Given the description of an element on the screen output the (x, y) to click on. 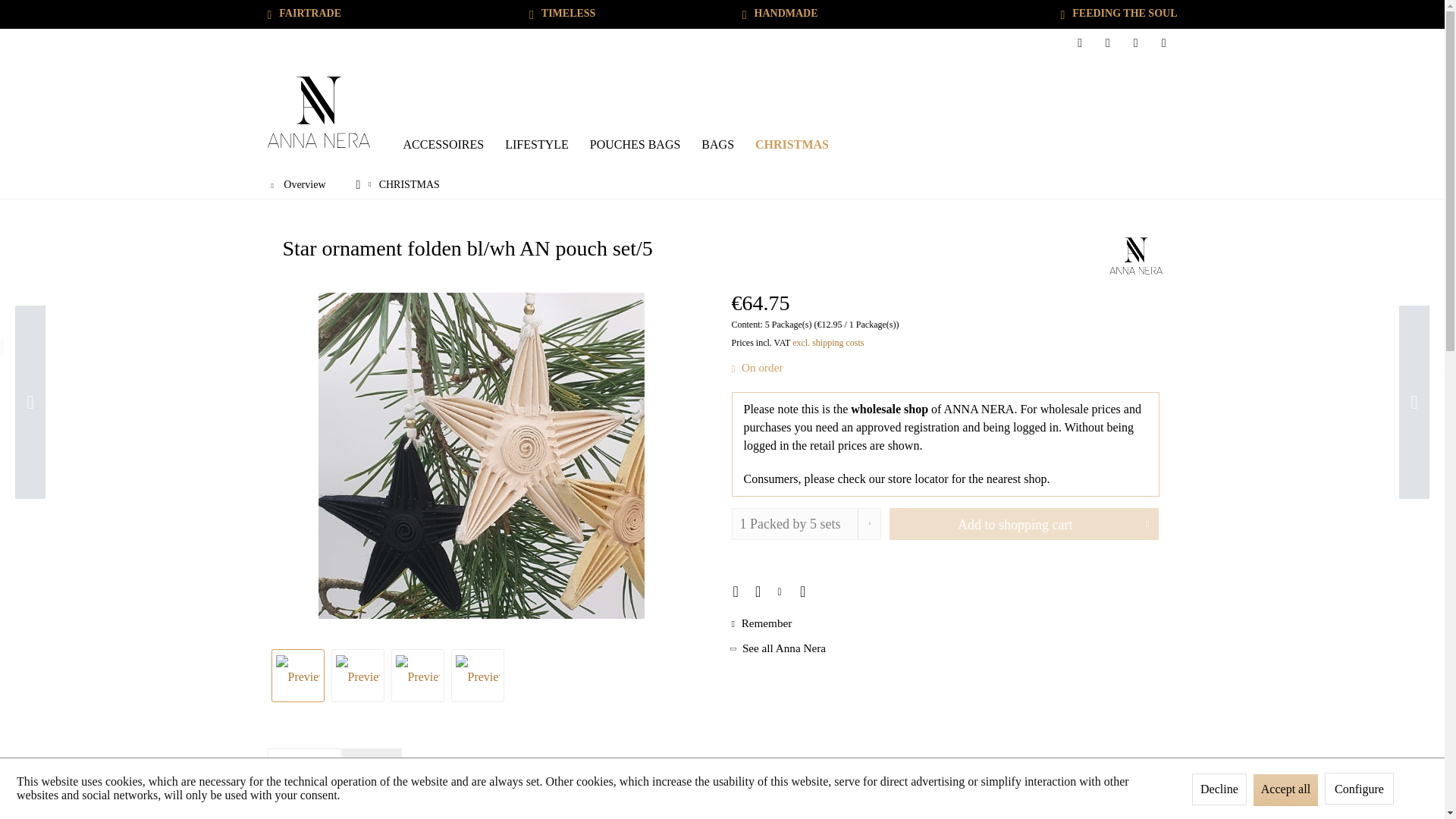
POUCHES BAGS (635, 144)
ACCESSOIRES (444, 144)
ACCESSOIRESLIFESTYLEPOUCHES BAGSBAGSCHRISTMAS (785, 144)
POUCHES BAGS (635, 144)
BAGS (717, 144)
ACCESSOIRES (444, 144)
CHRISTMAS (409, 184)
Anna Nera - Switch to homepage (317, 112)
Overview (297, 184)
ACCESSOIRES (444, 144)
